Given the description of an element on the screen output the (x, y) to click on. 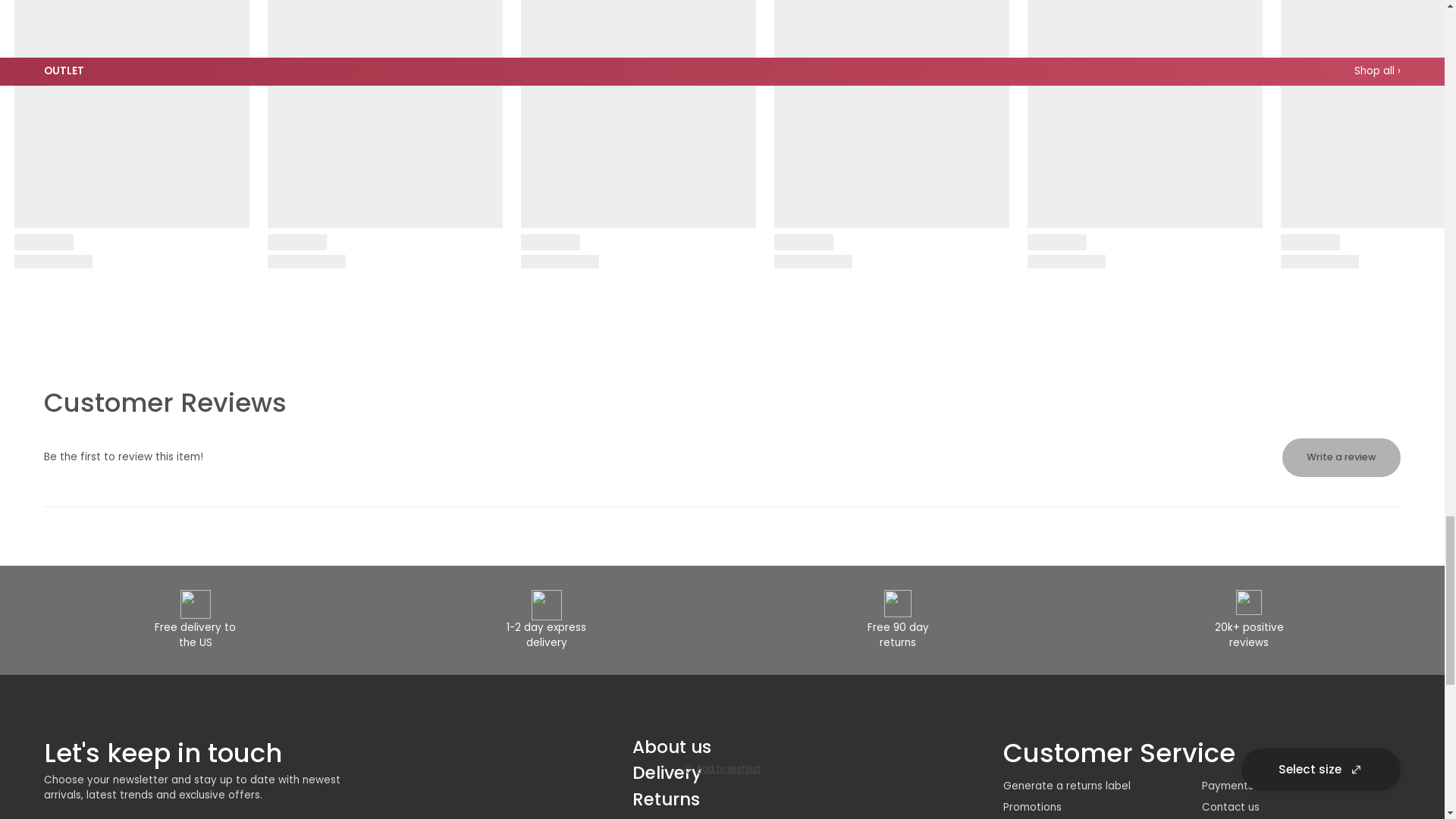
About us (671, 746)
Generate a returns label (1067, 785)
FAQ (649, 816)
Returns (665, 799)
Promotions (1032, 807)
Payments (1227, 785)
Write a review (1341, 457)
Delivery (666, 772)
Contact us (1230, 807)
